Given the description of an element on the screen output the (x, y) to click on. 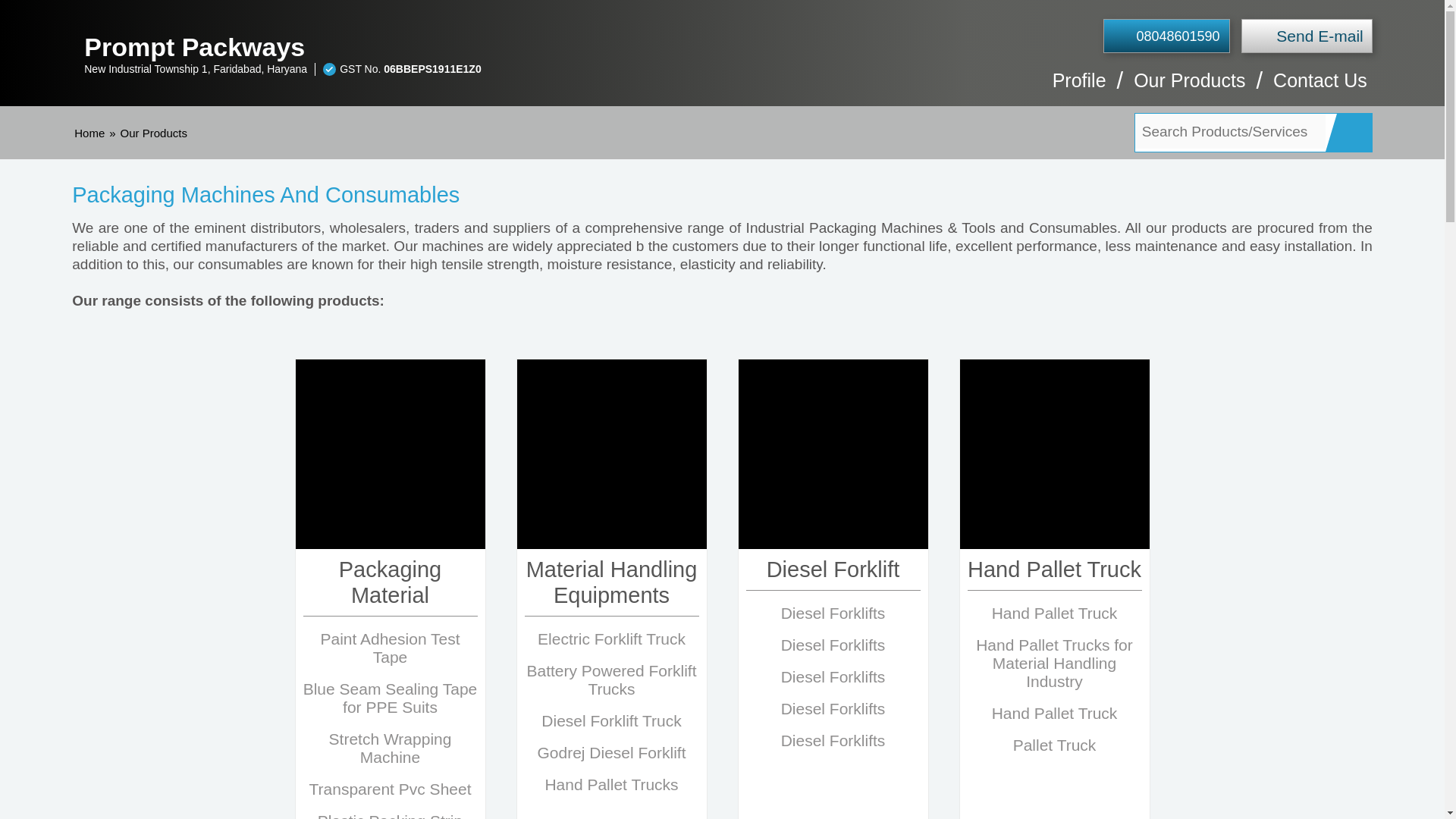
Diesel Forklifts (832, 740)
Pallet Truck (1054, 744)
Blue Seam Sealing Tape for PPE Suits (389, 697)
Home (89, 132)
Plastic Packing Strip (390, 815)
Our Products (1189, 88)
Godrej Diesel Forklift (611, 752)
Diesel Forklifts (832, 612)
Electric Forklift Truck (611, 638)
Diesel Forklifts (832, 708)
